Given the description of an element on the screen output the (x, y) to click on. 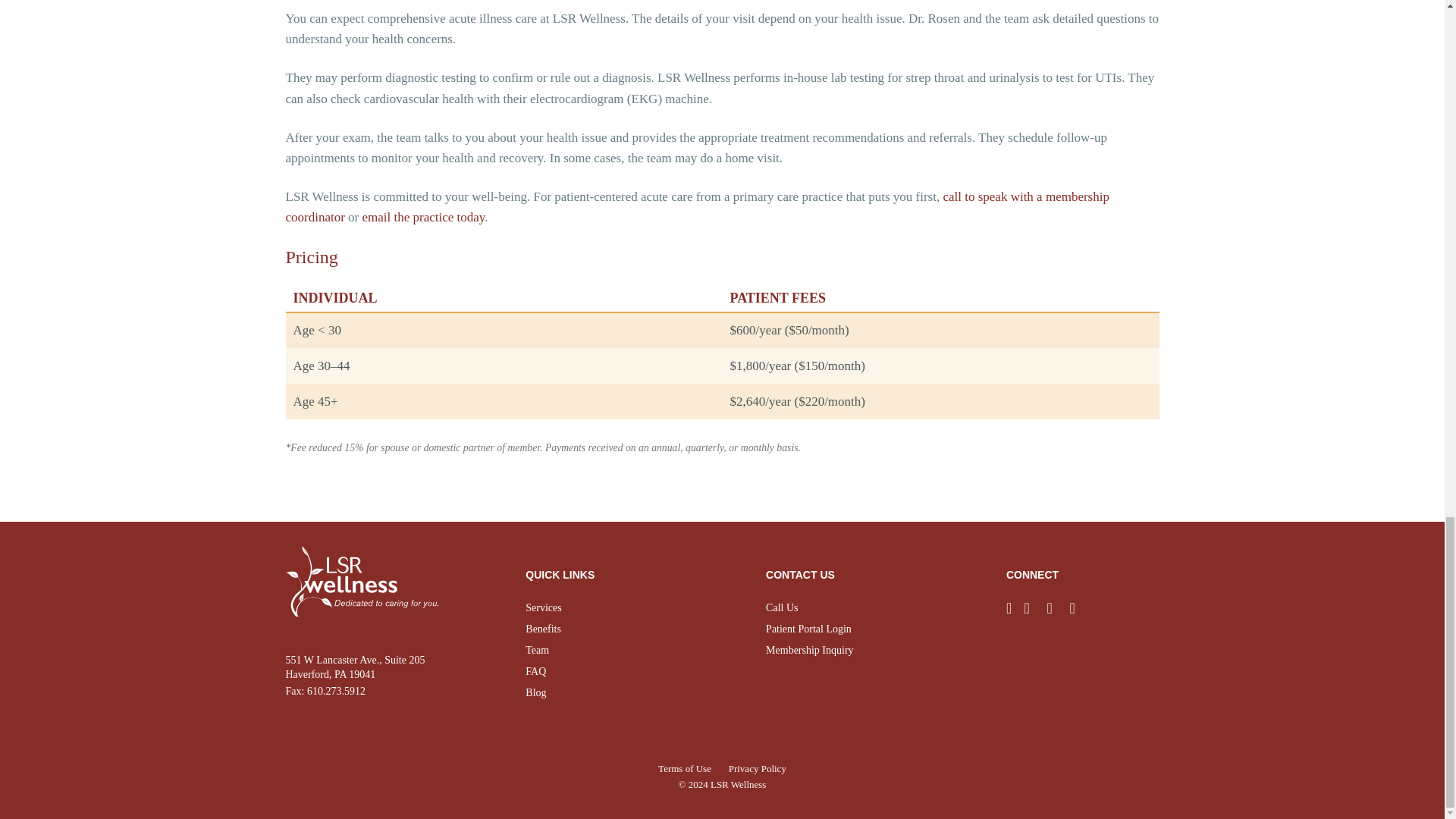
LSR Wellness (737, 784)
Terms of Use (684, 767)
Privacy Policy (757, 767)
Blog (535, 692)
Call Us (781, 607)
Membership Inquiry (809, 650)
email the practice today (423, 216)
Team (536, 650)
Patient Portal Login (808, 628)
call to speak with a membership coordinator (696, 206)
FAQ (535, 671)
Services (542, 607)
